Given the description of an element on the screen output the (x, y) to click on. 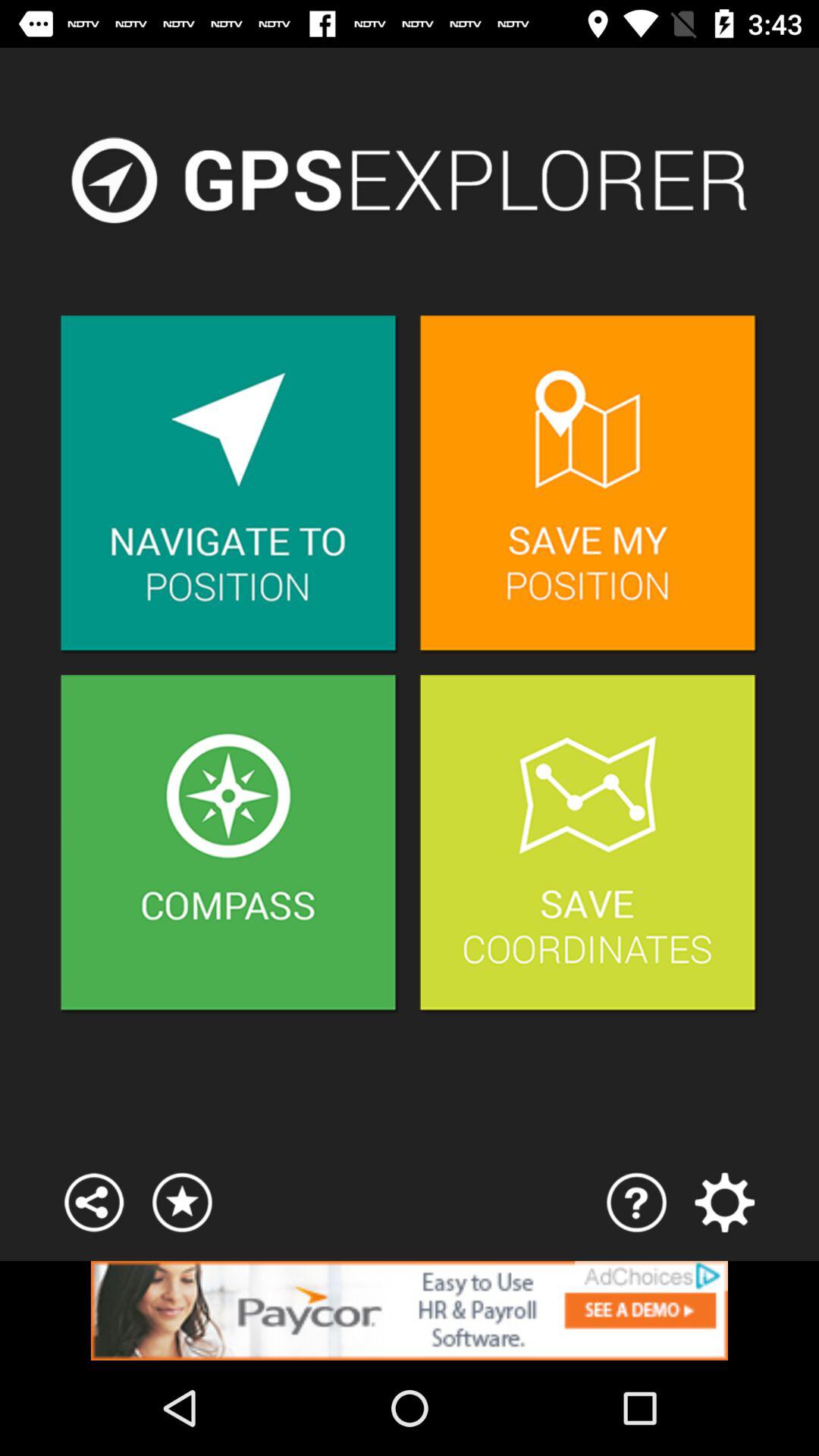
open menu options (93, 1202)
